Given the description of an element on the screen output the (x, y) to click on. 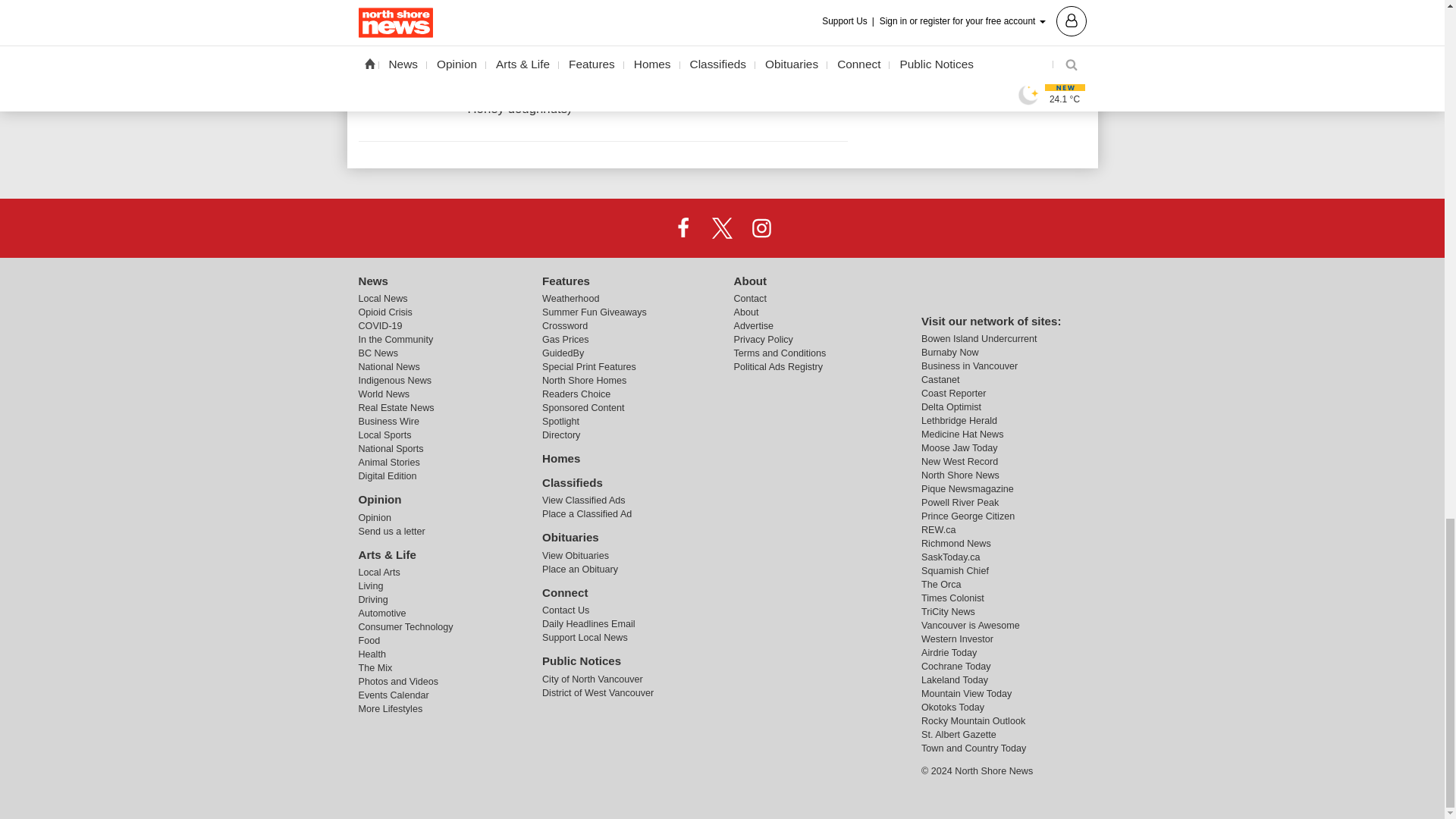
3rd party ad content (972, 33)
X (721, 226)
Facebook (683, 226)
Instagram (760, 226)
